Given the description of an element on the screen output the (x, y) to click on. 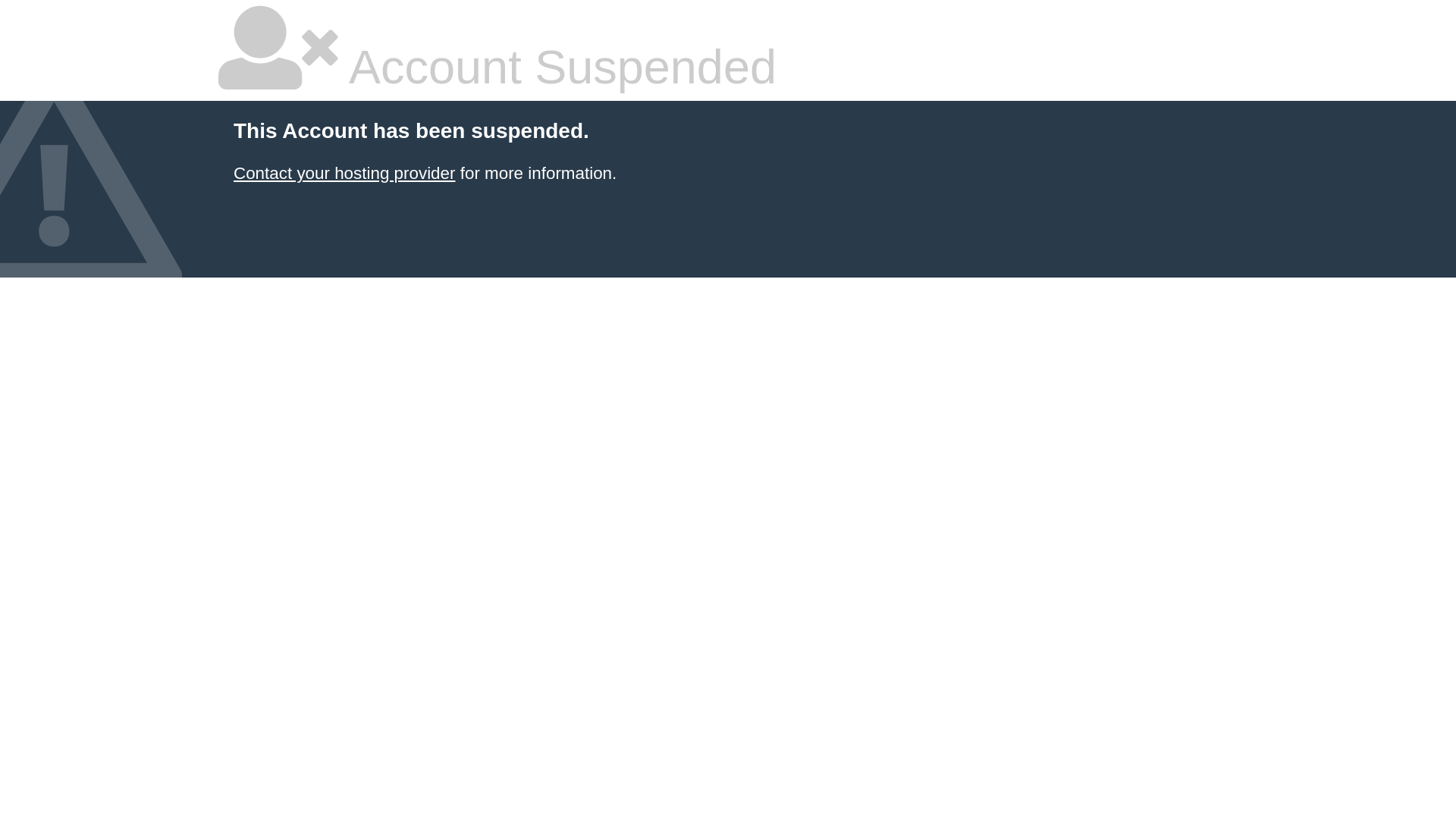
Contact your hosting provider Element type: text (344, 172)
